Given the description of an element on the screen output the (x, y) to click on. 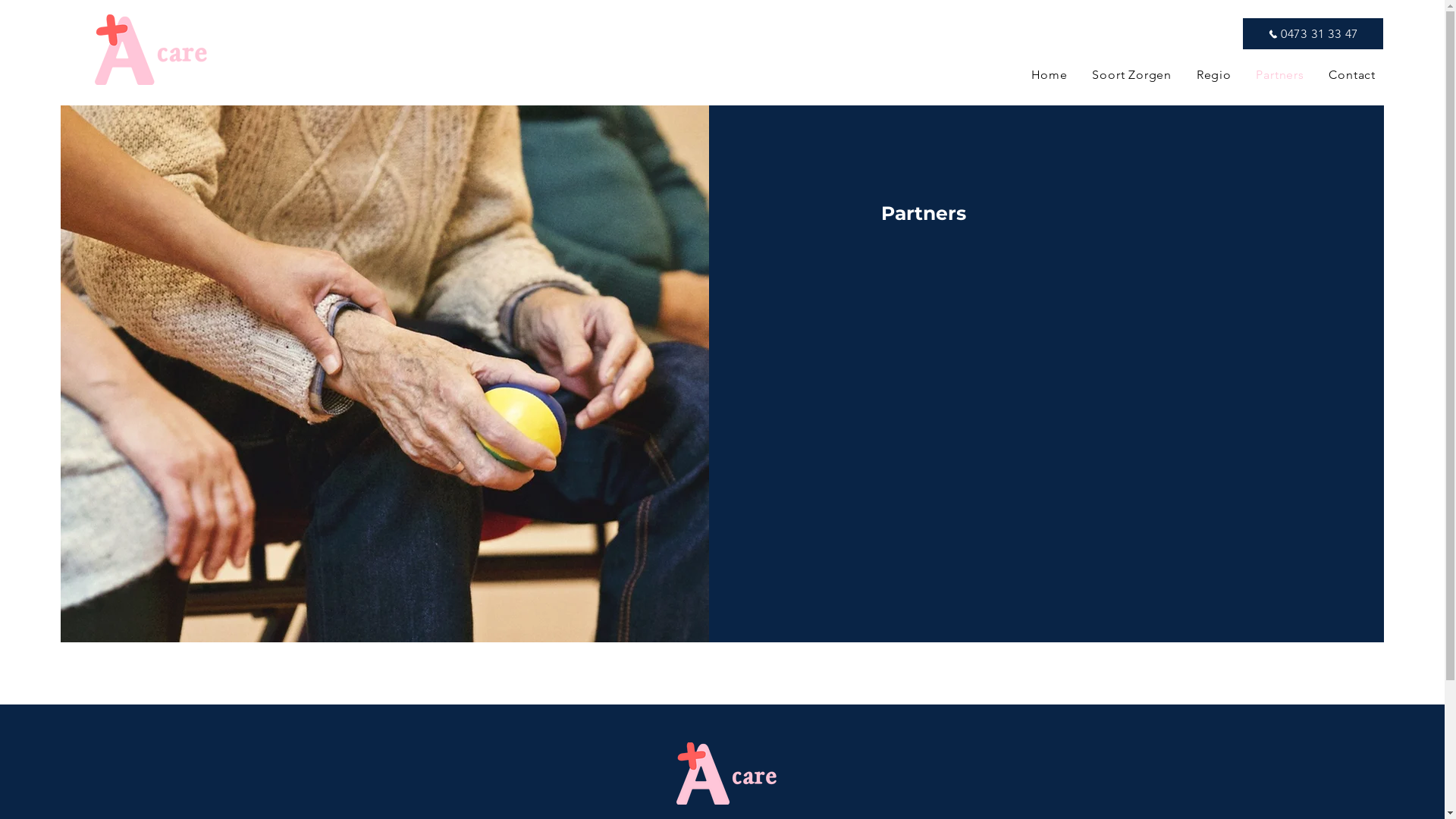
Regio Element type: text (1212, 74)
Partners Element type: text (1278, 74)
Home Element type: text (1047, 74)
Soort Zorgen Element type: text (1130, 74)
0473 31 33 47 Element type: text (1312, 33)
Contact Element type: text (1350, 74)
